Given the description of an element on the screen output the (x, y) to click on. 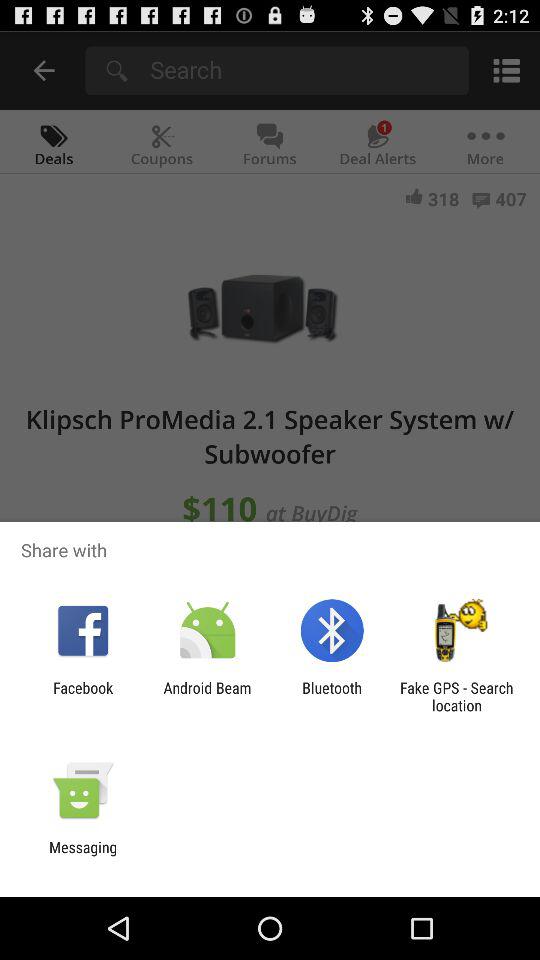
select app to the right of the bluetooth (456, 696)
